Given the description of an element on the screen output the (x, y) to click on. 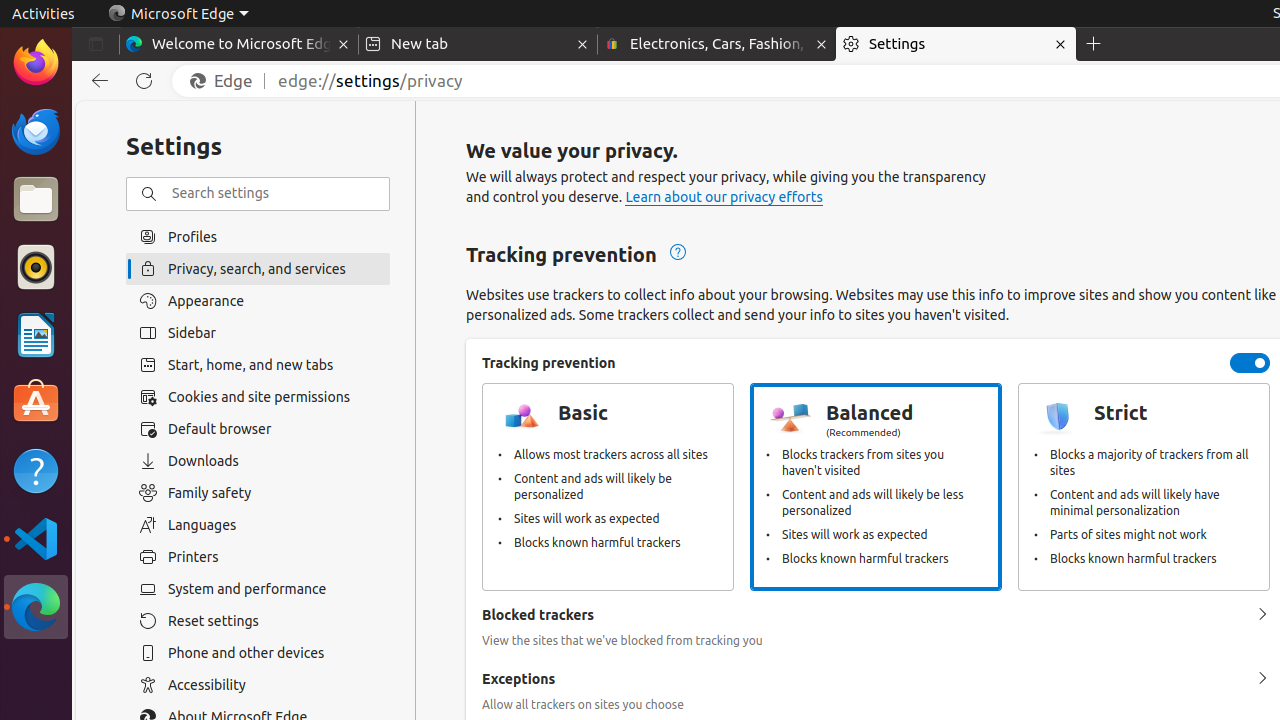
Learn about our privacy efforts Element type: link (724, 197)
Accessibility Element type: tree-item (258, 685)
Ubuntu Software Element type: push-button (36, 402)
Start, home, and new tabs Element type: tree-item (258, 365)
Tracking prevention Element type: check-box (1250, 363)
